Given the description of an element on the screen output the (x, y) to click on. 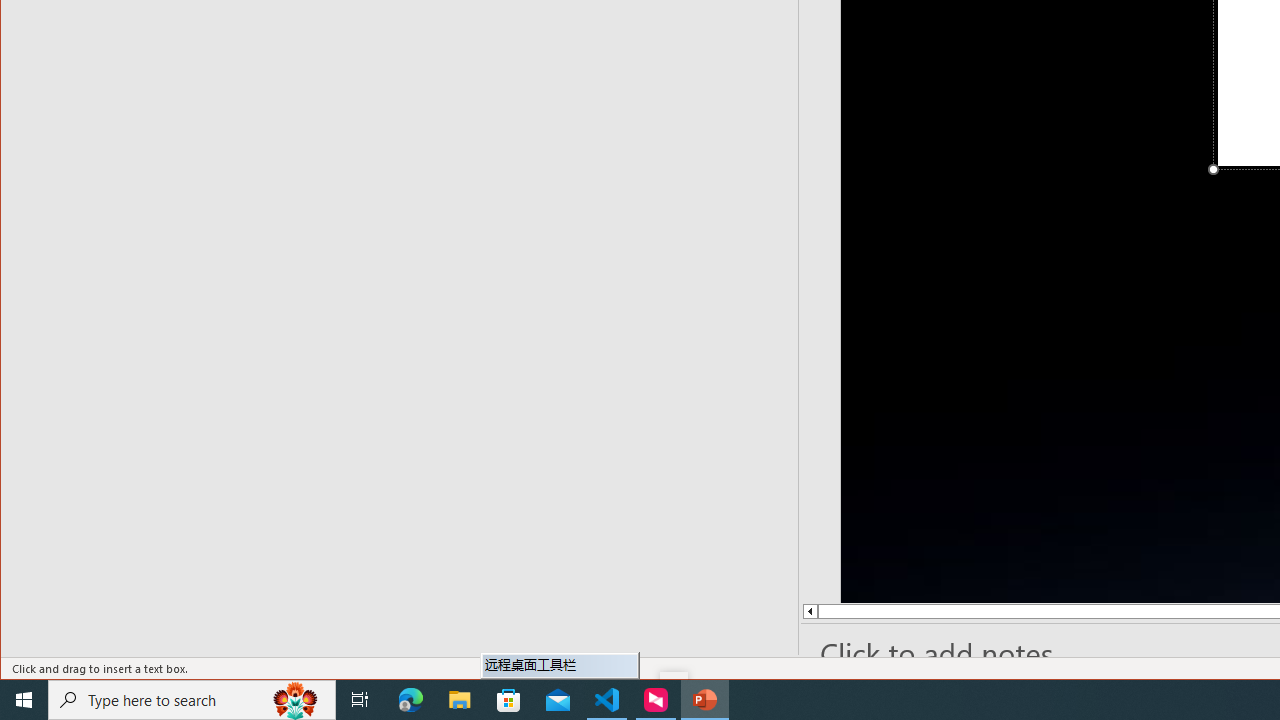
Microsoft Edge (411, 699)
